Given the description of an element on the screen output the (x, y) to click on. 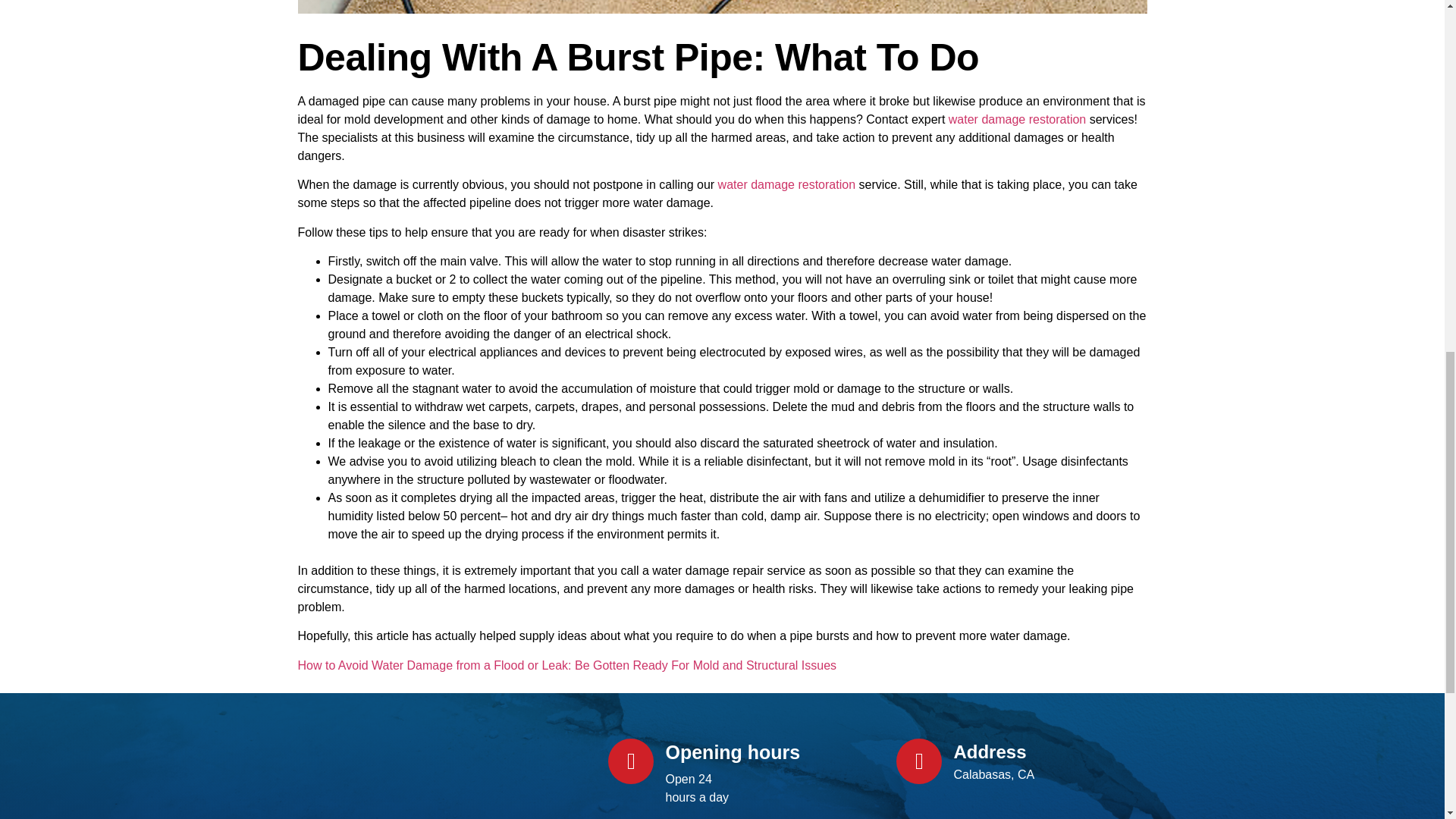
water damage restoration (786, 184)
water damage restoration (1017, 119)
